Given the description of an element on the screen output the (x, y) to click on. 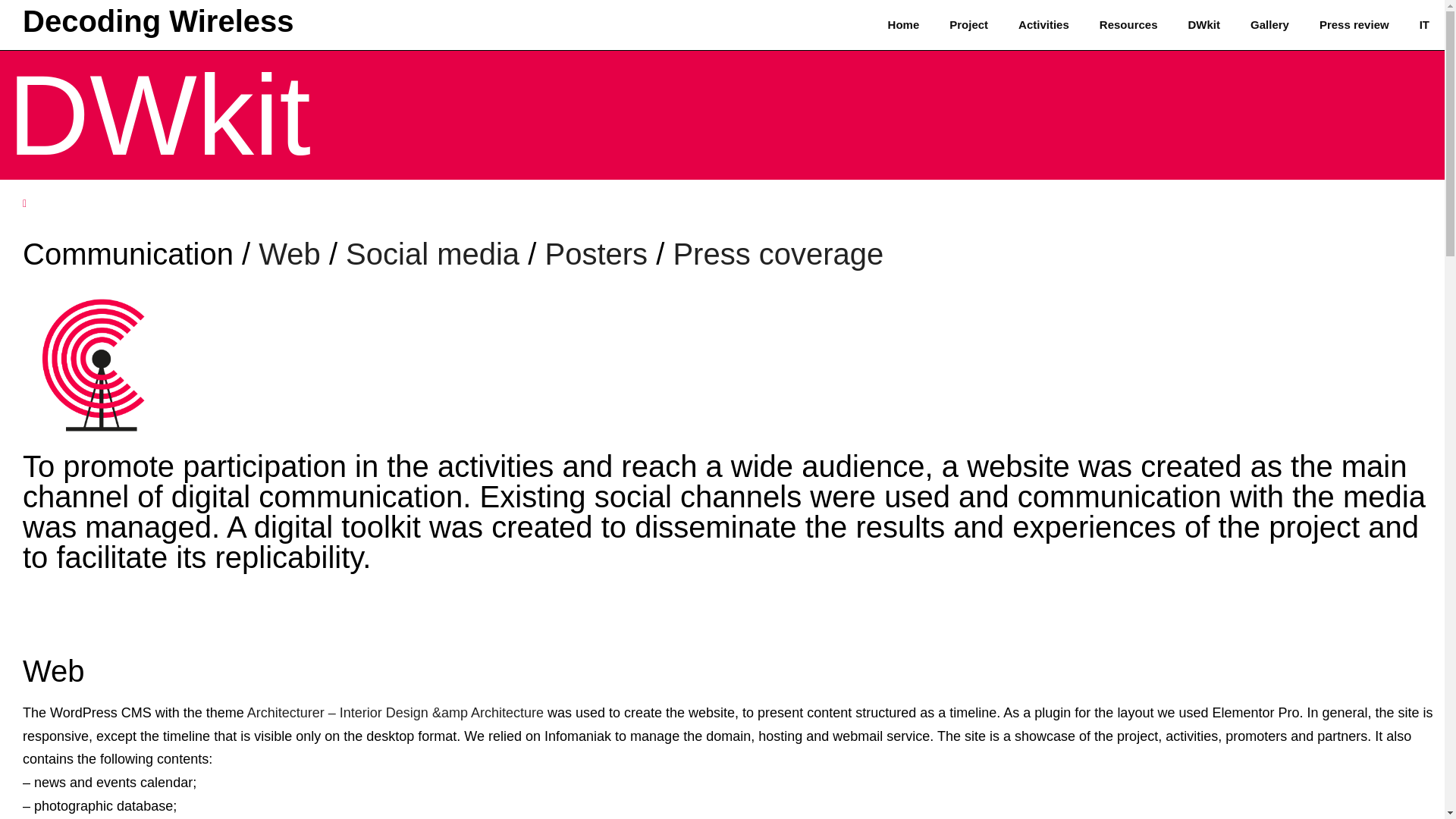
Project (968, 24)
Press coverage (777, 254)
Gallery (1269, 24)
Web (294, 254)
Activities (1043, 24)
Resources (1128, 24)
DWkit (1204, 24)
Press review (1354, 24)
Social media (432, 254)
Home (903, 24)
DWkit (159, 115)
Decoding Wireless (158, 20)
Posters (595, 254)
